Given the description of an element on the screen output the (x, y) to click on. 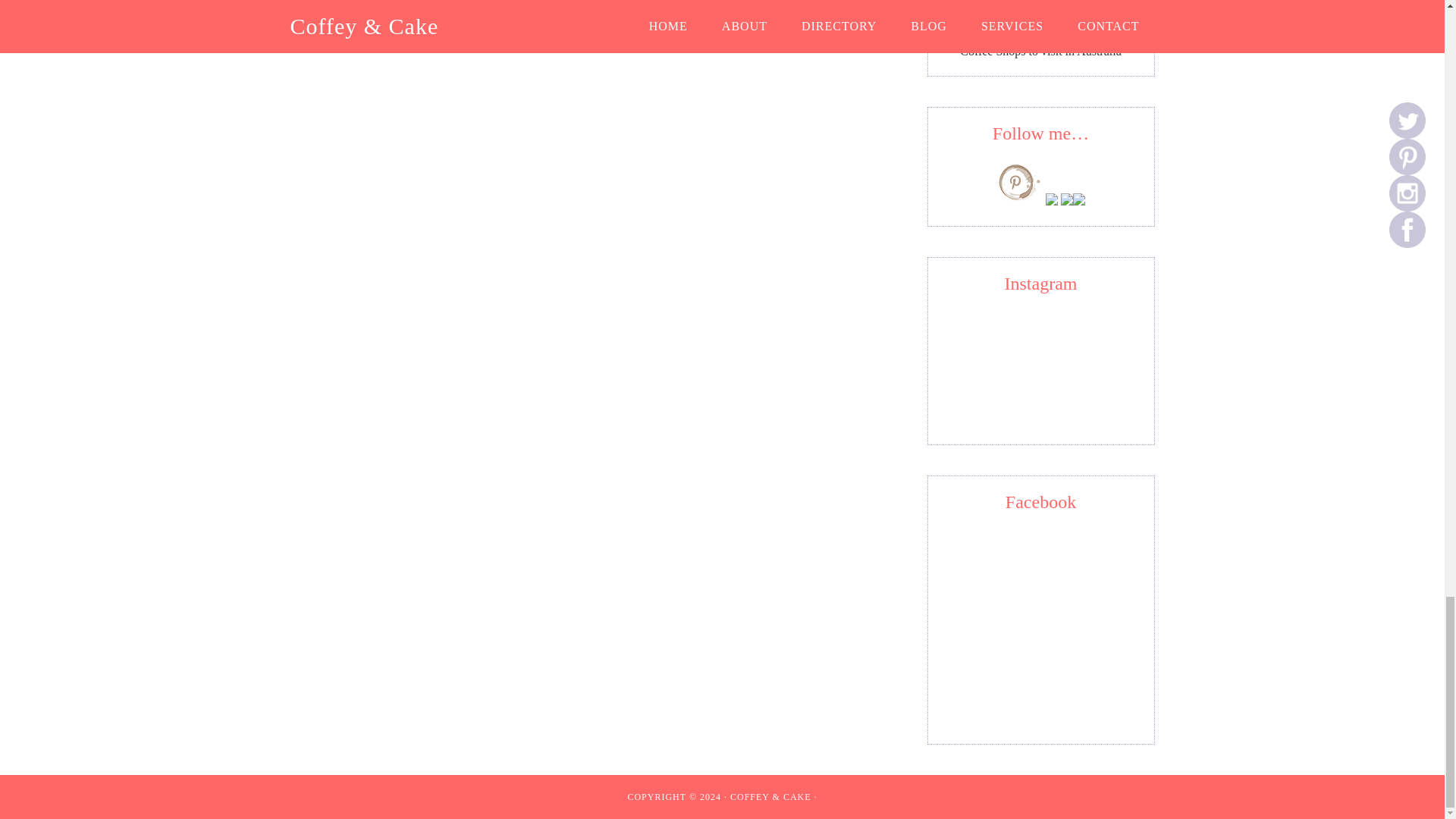
Instagram Widget (1040, 366)
Coffee Shops to visit in Australia (1040, 51)
Moto Cafe (1040, 28)
